Given the description of an element on the screen output the (x, y) to click on. 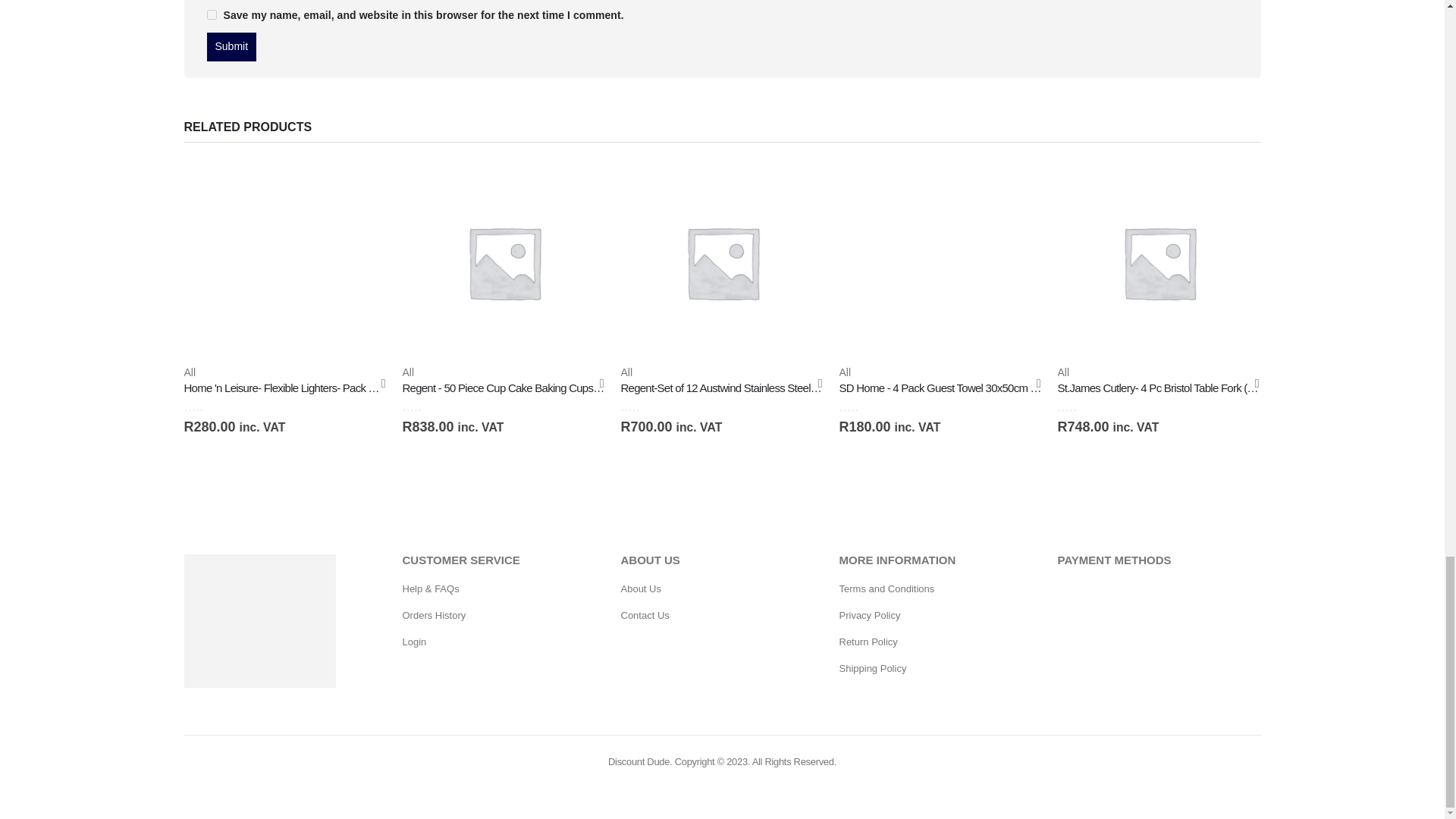
0 (429, 406)
0 (210, 406)
yes (210, 14)
Submit (231, 46)
